Given the description of an element on the screen output the (x, y) to click on. 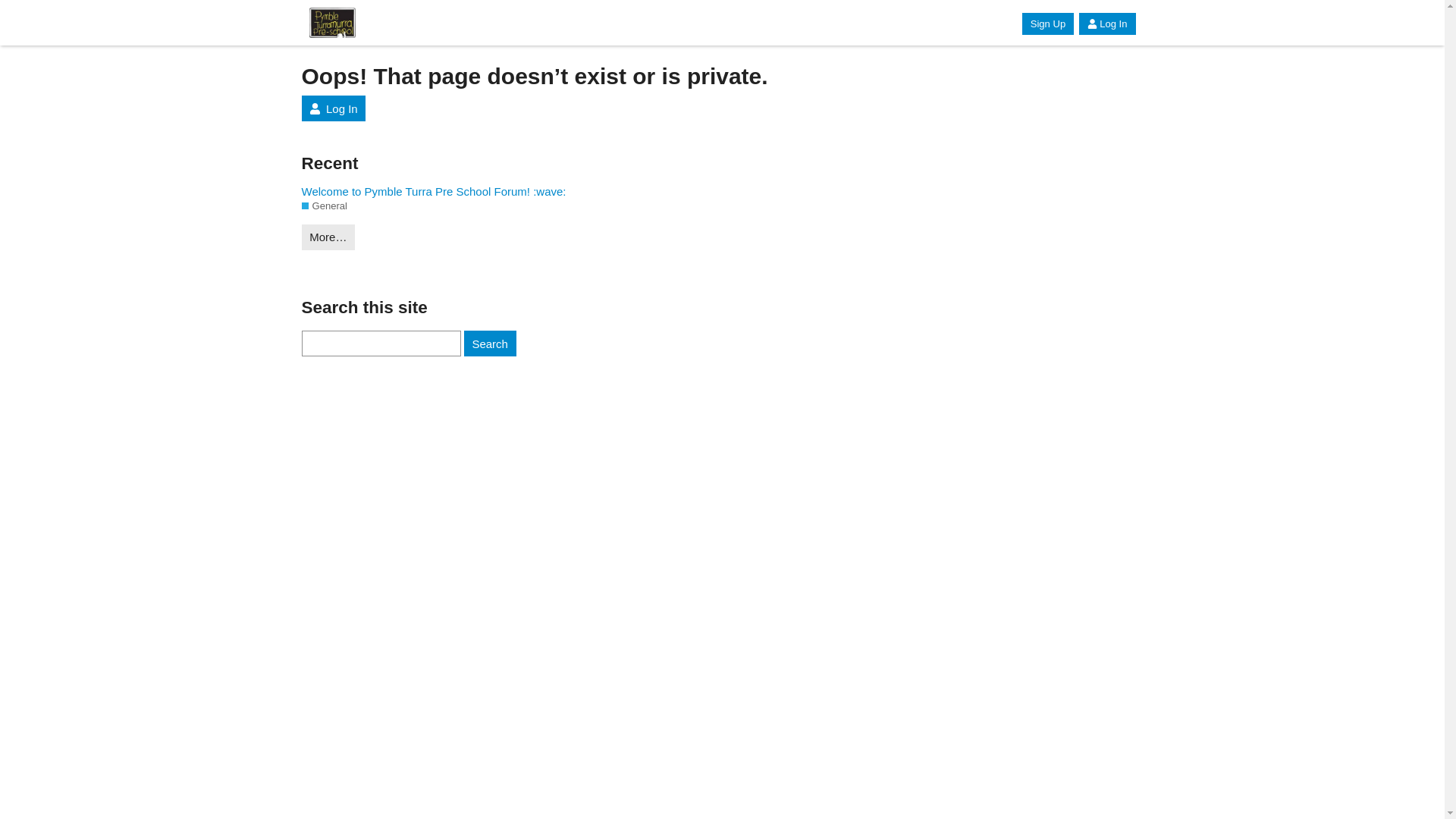
Search Element type: text (490, 343)
Log In Element type: text (333, 108)
Log In Element type: text (1107, 23)
Welcome to Pymble Turra Pre School Forum! :wave: Element type: text (445, 191)
General Element type: text (324, 206)
Sign Up Element type: text (1047, 23)
